Given the description of an element on the screen output the (x, y) to click on. 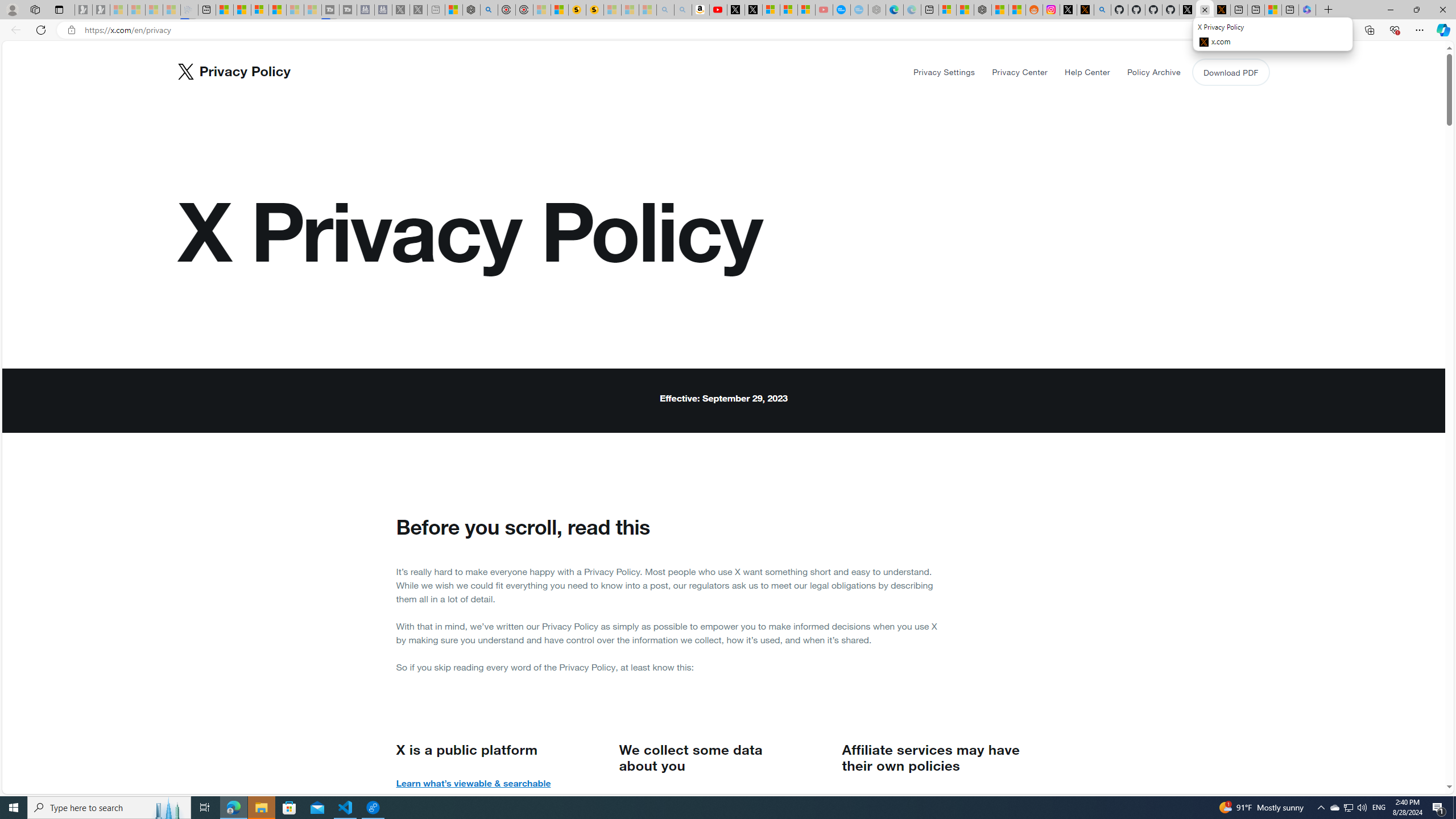
Amazon Echo Dot PNG - Search Images - Sleeping (683, 9)
Download PDF (1230, 71)
Gloom - YouTube - Sleeping (823, 9)
